Given the description of an element on the screen output the (x, y) to click on. 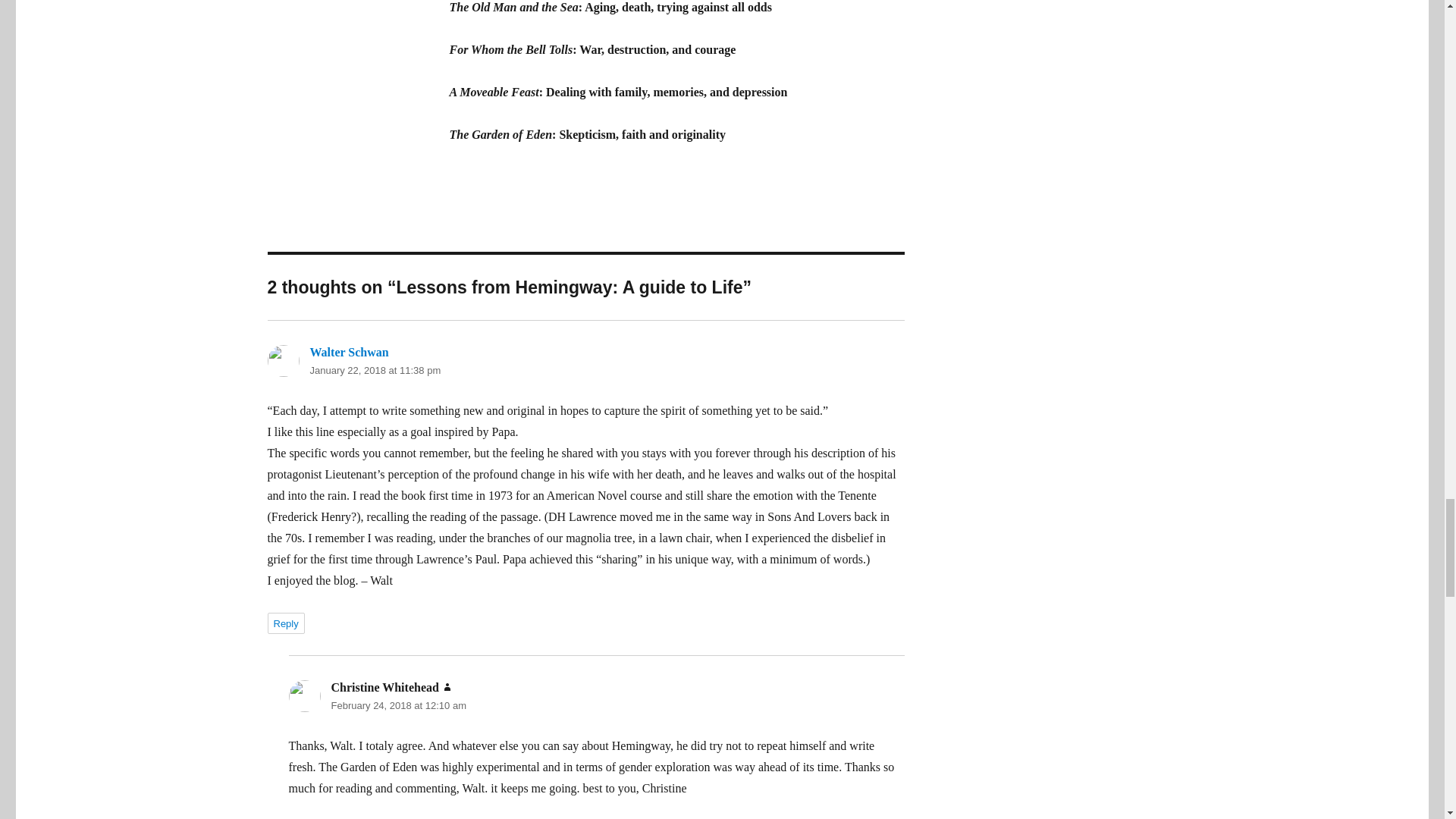
Reply (285, 622)
Walter Schwan (348, 351)
February 24, 2018 at 12:10 am (397, 705)
January 22, 2018 at 11:38 pm (374, 369)
